Given the description of an element on the screen output the (x, y) to click on. 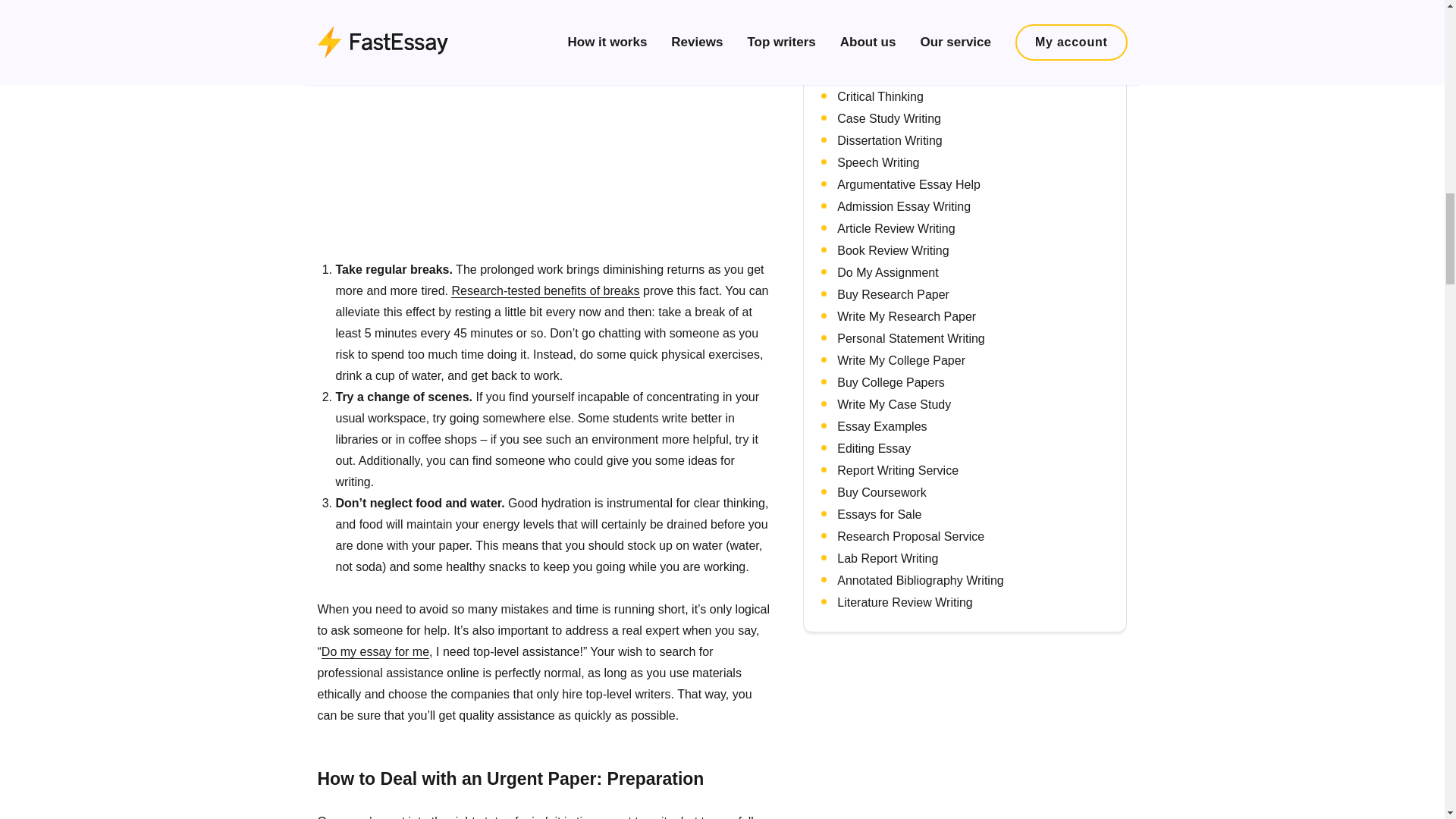
Do my essay for me (375, 651)
Research-tested benefits of breaks (545, 290)
